Given the description of an element on the screen output the (x, y) to click on. 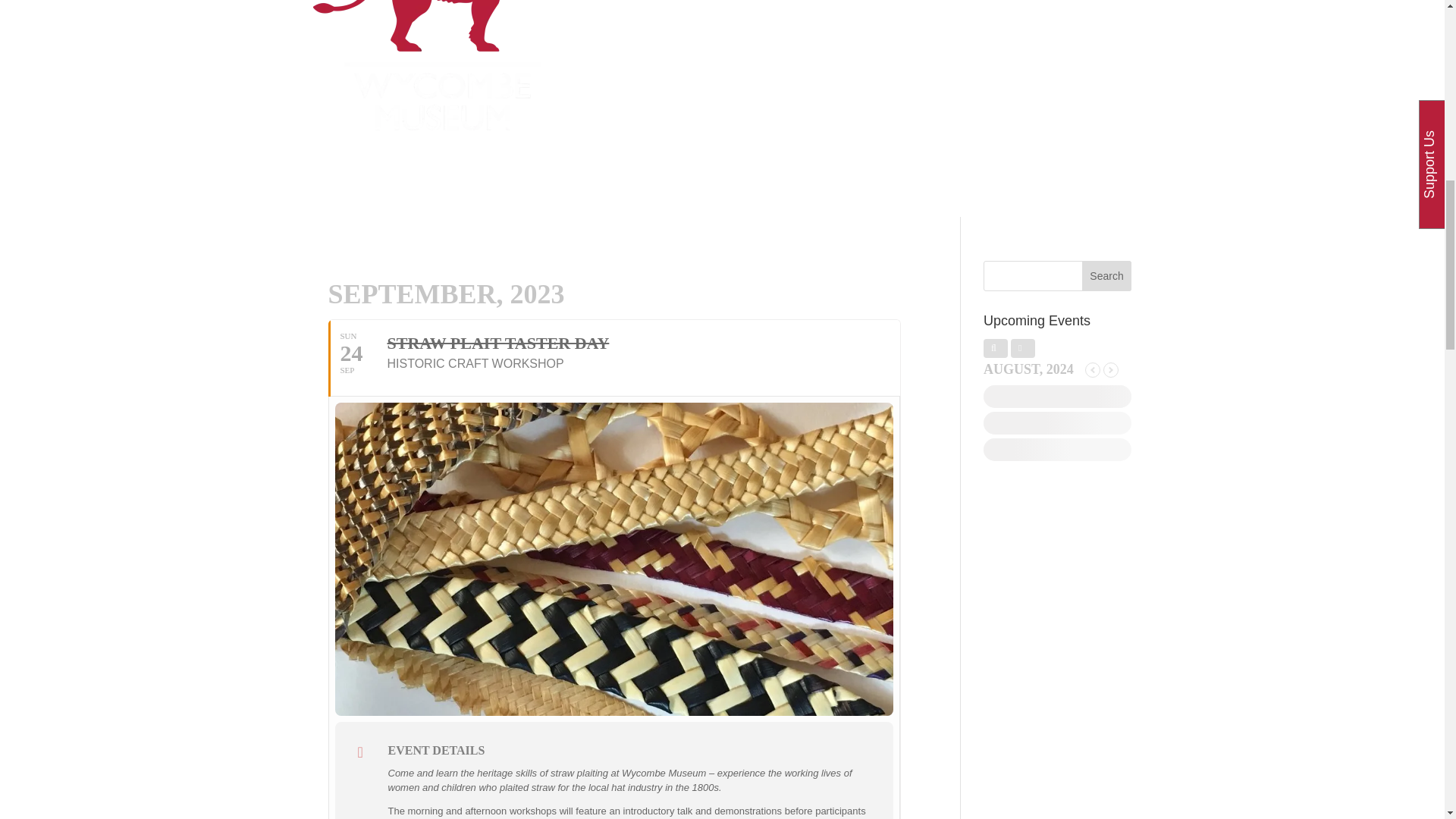
Search (1106, 276)
